Given the description of an element on the screen output the (x, y) to click on. 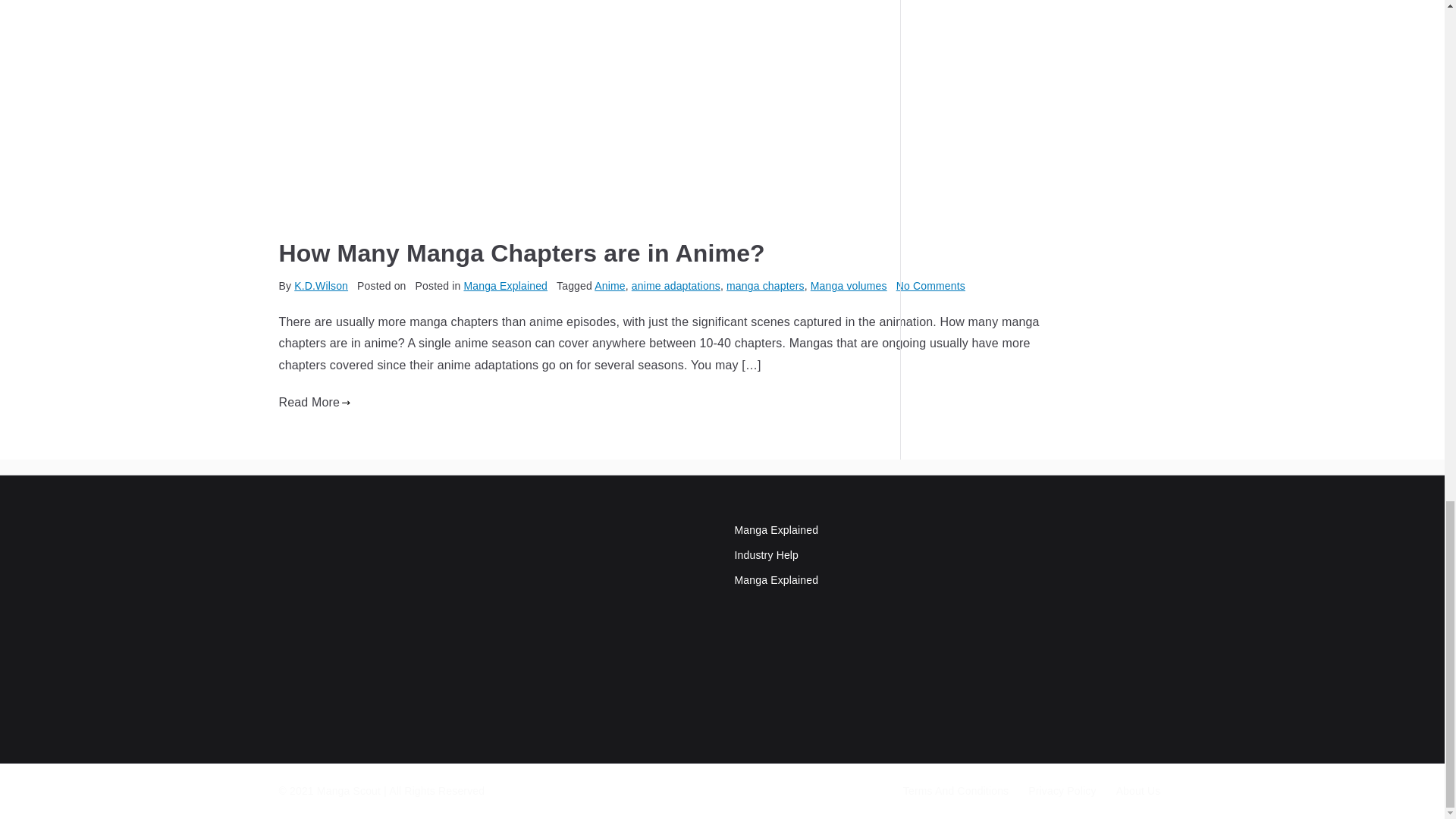
Manga Explained (505, 285)
DMCA.com Protection Status (608, 659)
anime adaptations (675, 285)
Anime (609, 285)
K.D.Wilson (320, 285)
How Many Manga Chapters are in Anime? (522, 252)
